Given the description of an element on the screen output the (x, y) to click on. 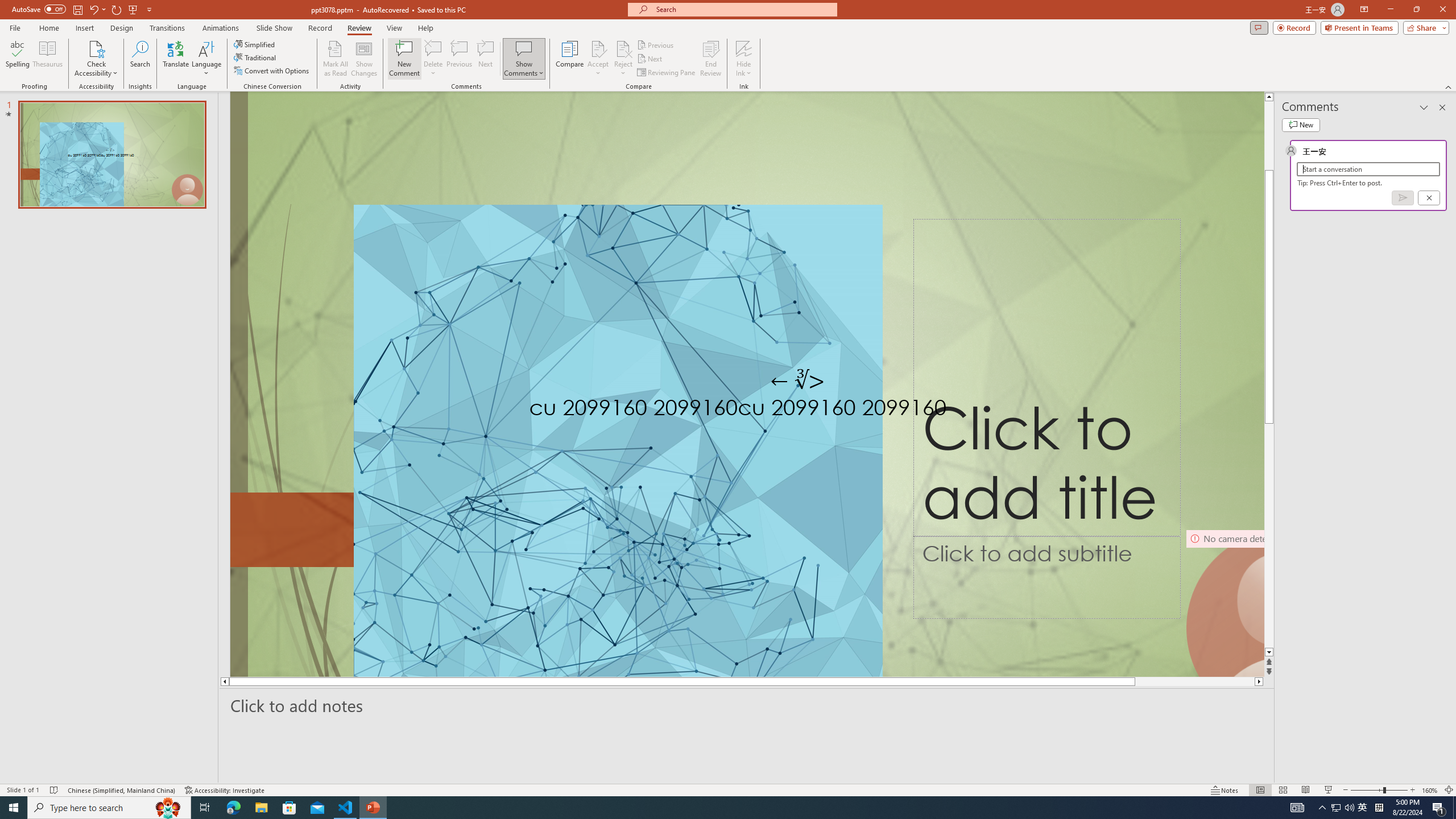
Zoom 160% (1430, 790)
Post comment (Ctrl + Enter) (1402, 197)
End Review (710, 58)
Mark All as Read (335, 58)
Accept (598, 58)
